Given the description of an element on the screen output the (x, y) to click on. 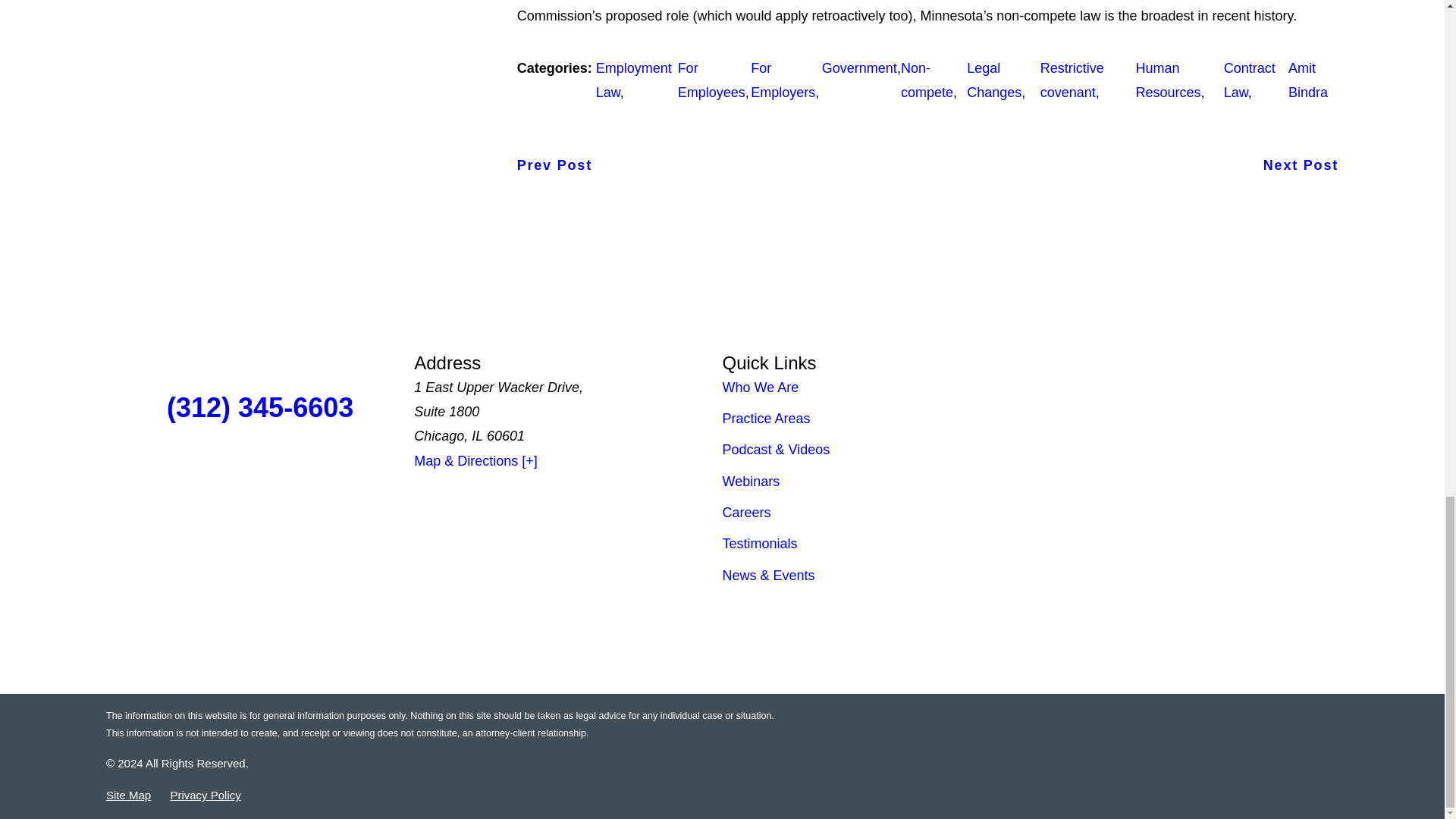
LinkedIn (376, 471)
Facebook (221, 471)
Twitter (144, 471)
Yelp (297, 471)
